Given the description of an element on the screen output the (x, y) to click on. 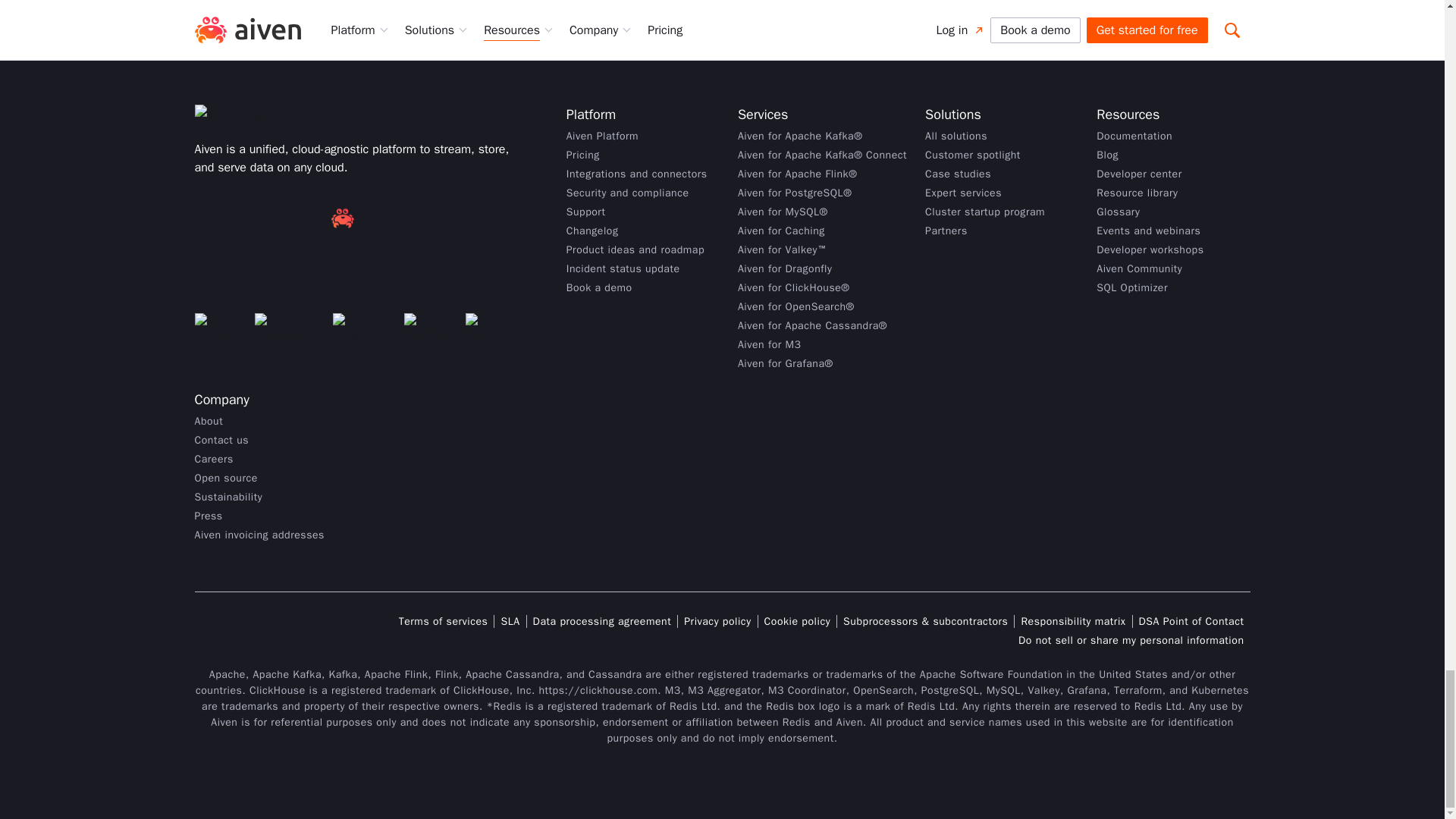
Youtube (494, 328)
Facebook (287, 328)
Github (218, 328)
LinkedIn (362, 328)
Twitter (428, 328)
